Given the description of an element on the screen output the (x, y) to click on. 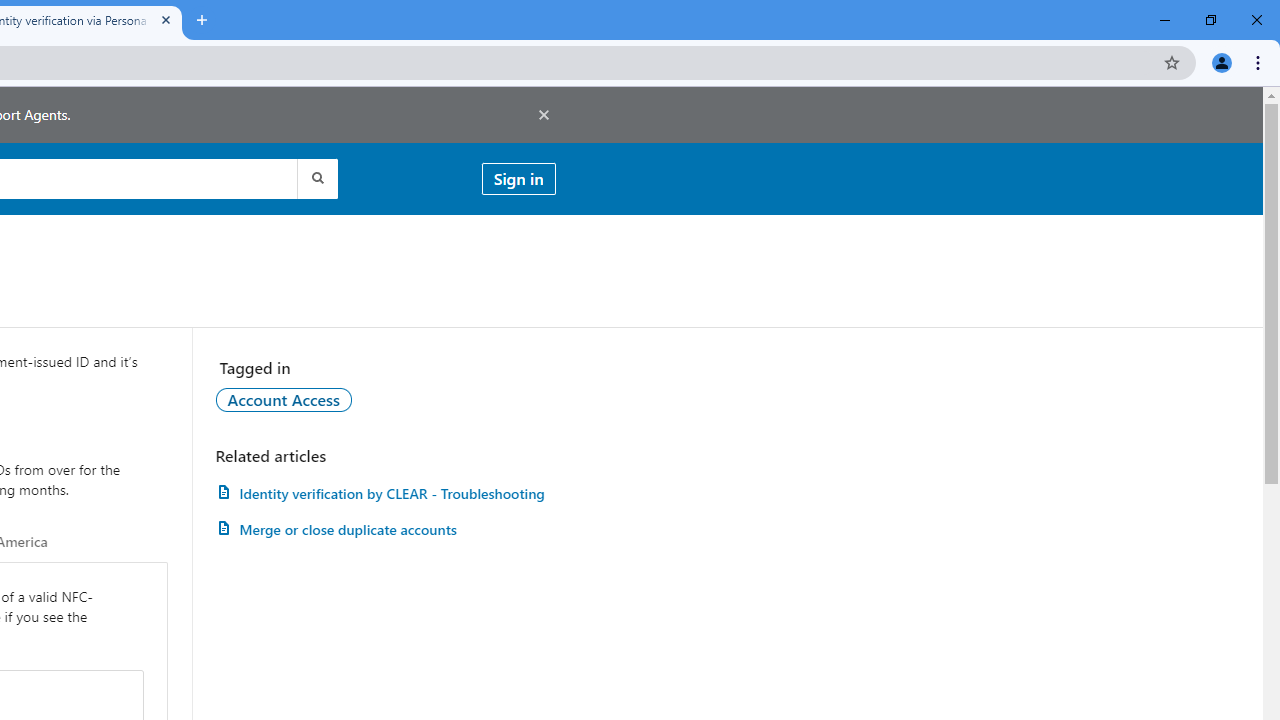
AutomationID: article-link-a1457505 (385, 493)
